Given the description of an element on the screen output the (x, y) to click on. 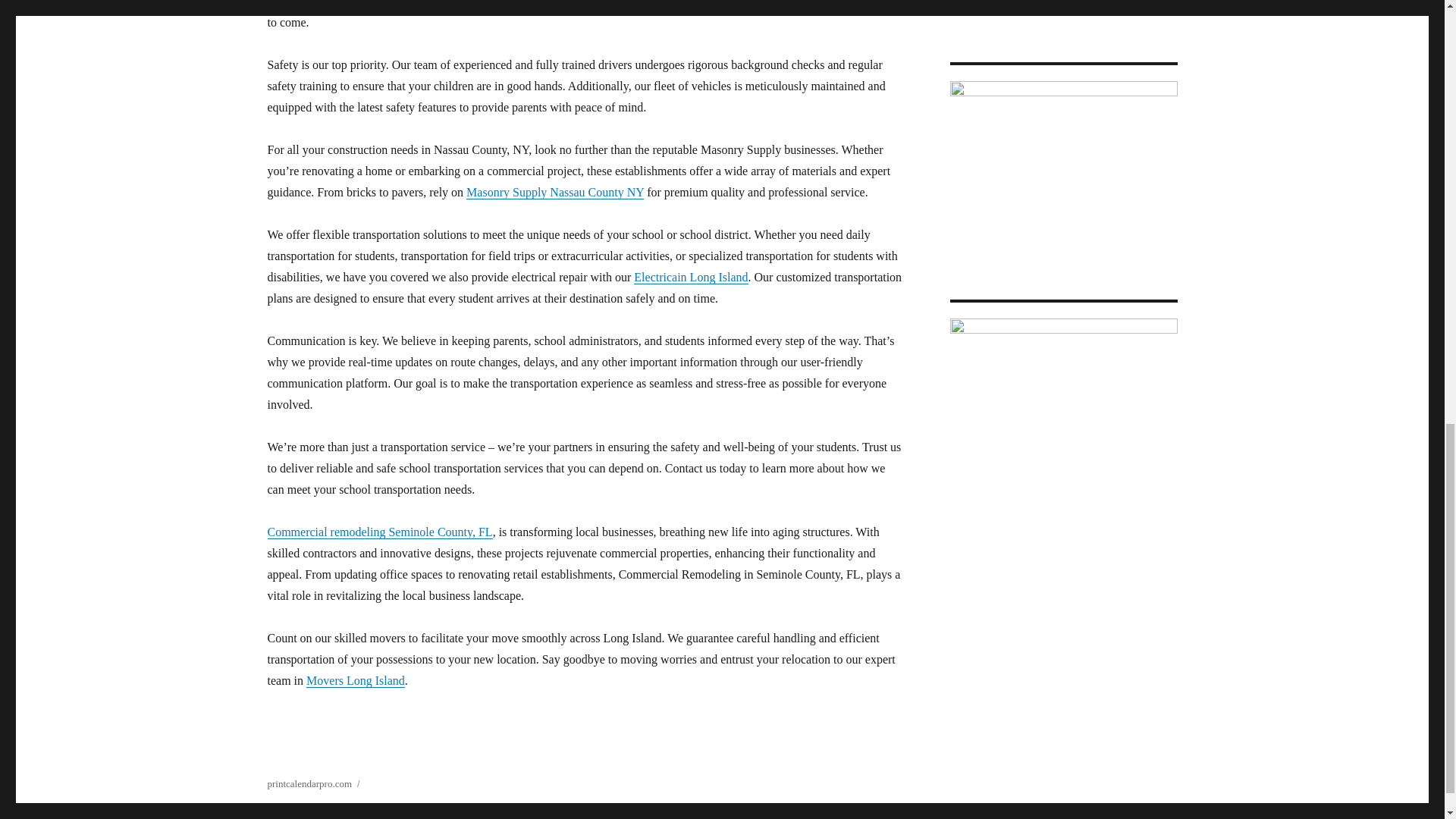
Electricain Long Island (690, 277)
Movers Long Island (354, 680)
Masonry Supply Nassau County NY (554, 192)
Commercial remodeling Seminole County, FL (379, 531)
